Given the description of an element on the screen output the (x, y) to click on. 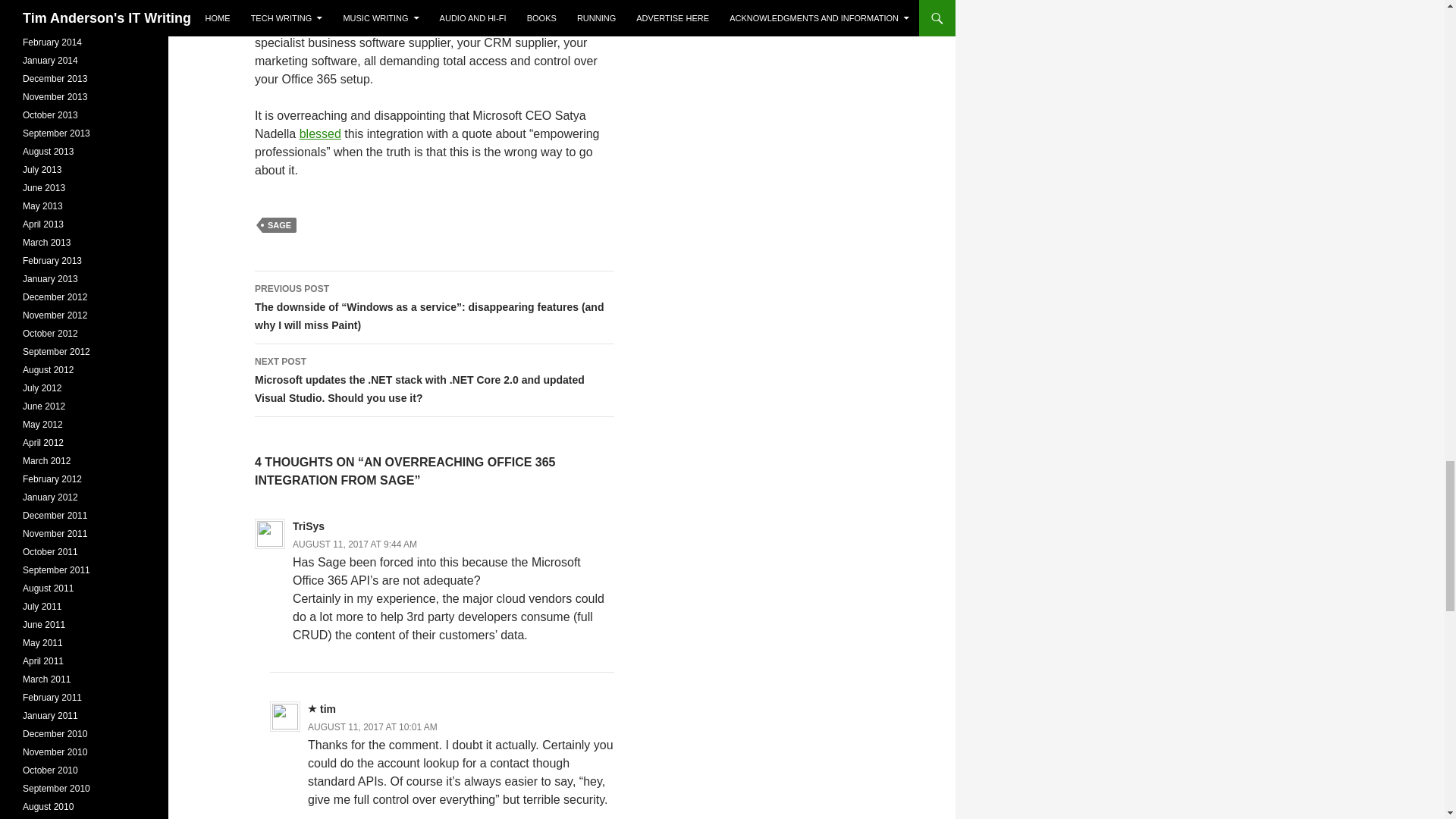
AUGUST 11, 2017 AT 10:01 AM (372, 726)
TriSys (308, 526)
blessed (319, 133)
SAGE (279, 224)
AUGUST 11, 2017 AT 9:44 AM (354, 543)
